Given the description of an element on the screen output the (x, y) to click on. 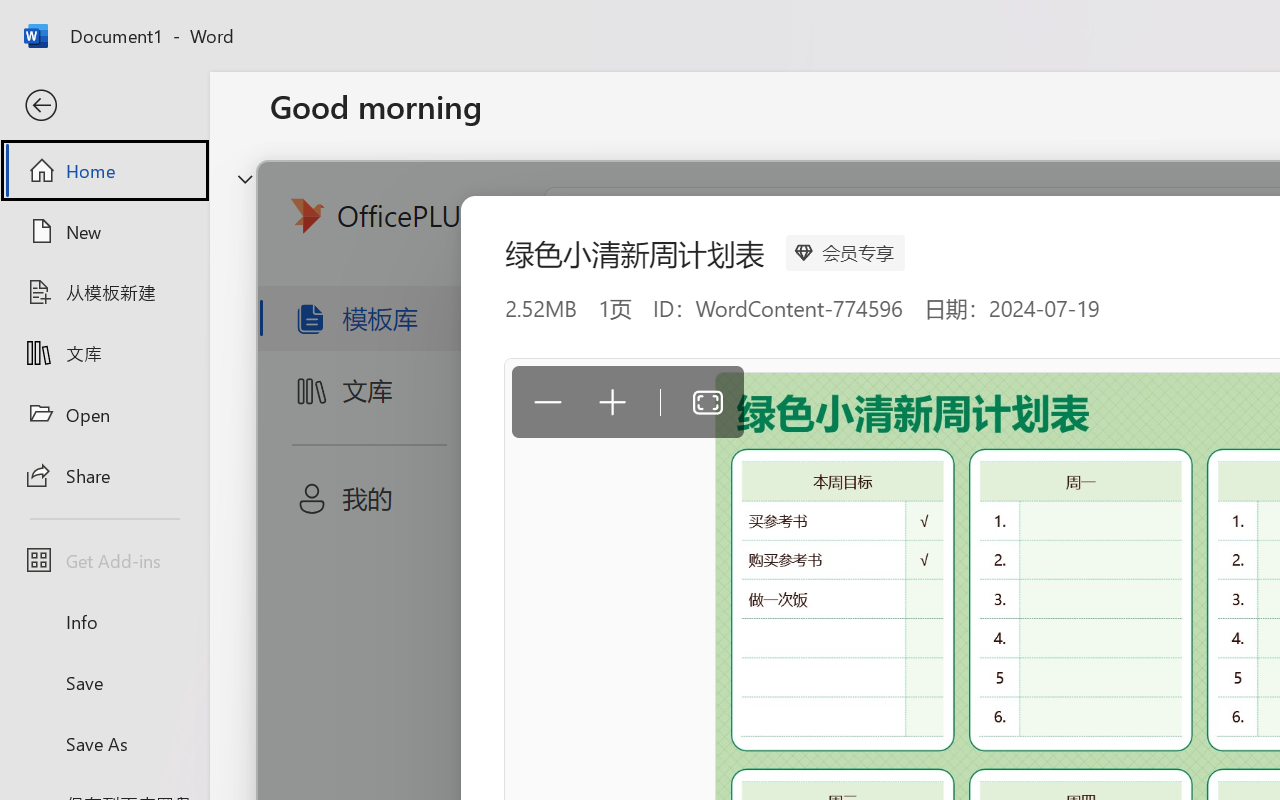
Info (104, 621)
Blank document (405, 332)
Hide or show region (245, 178)
